Given the description of an element on the screen output the (x, y) to click on. 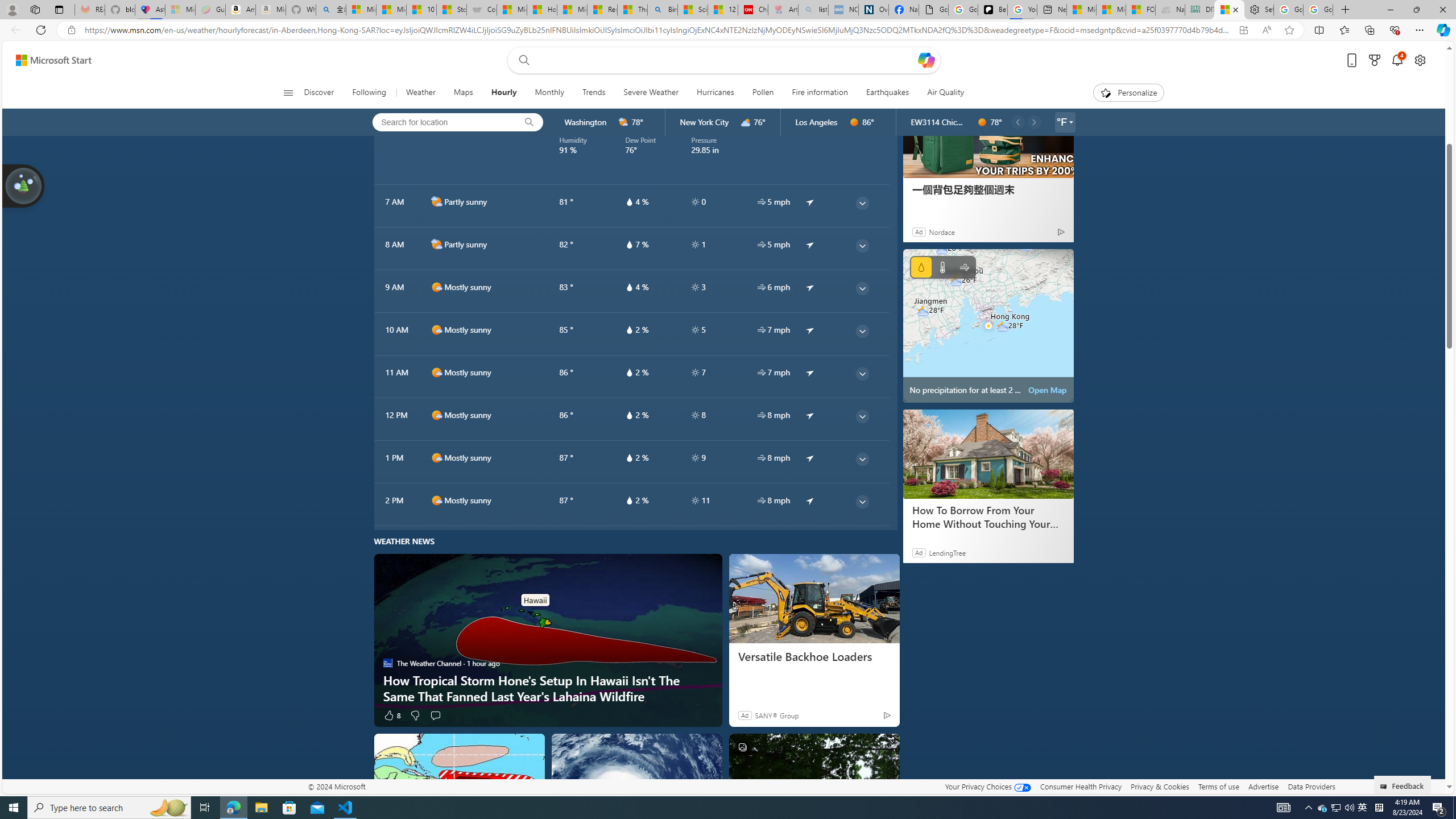
Arthritis: Ask Health Professionals - Sleeping (782, 9)
Aberdeen, Hong Kong SAR hourly forecast | Microsoft Weather (1229, 9)
Pollen (762, 92)
